Given the description of an element on the screen output the (x, y) to click on. 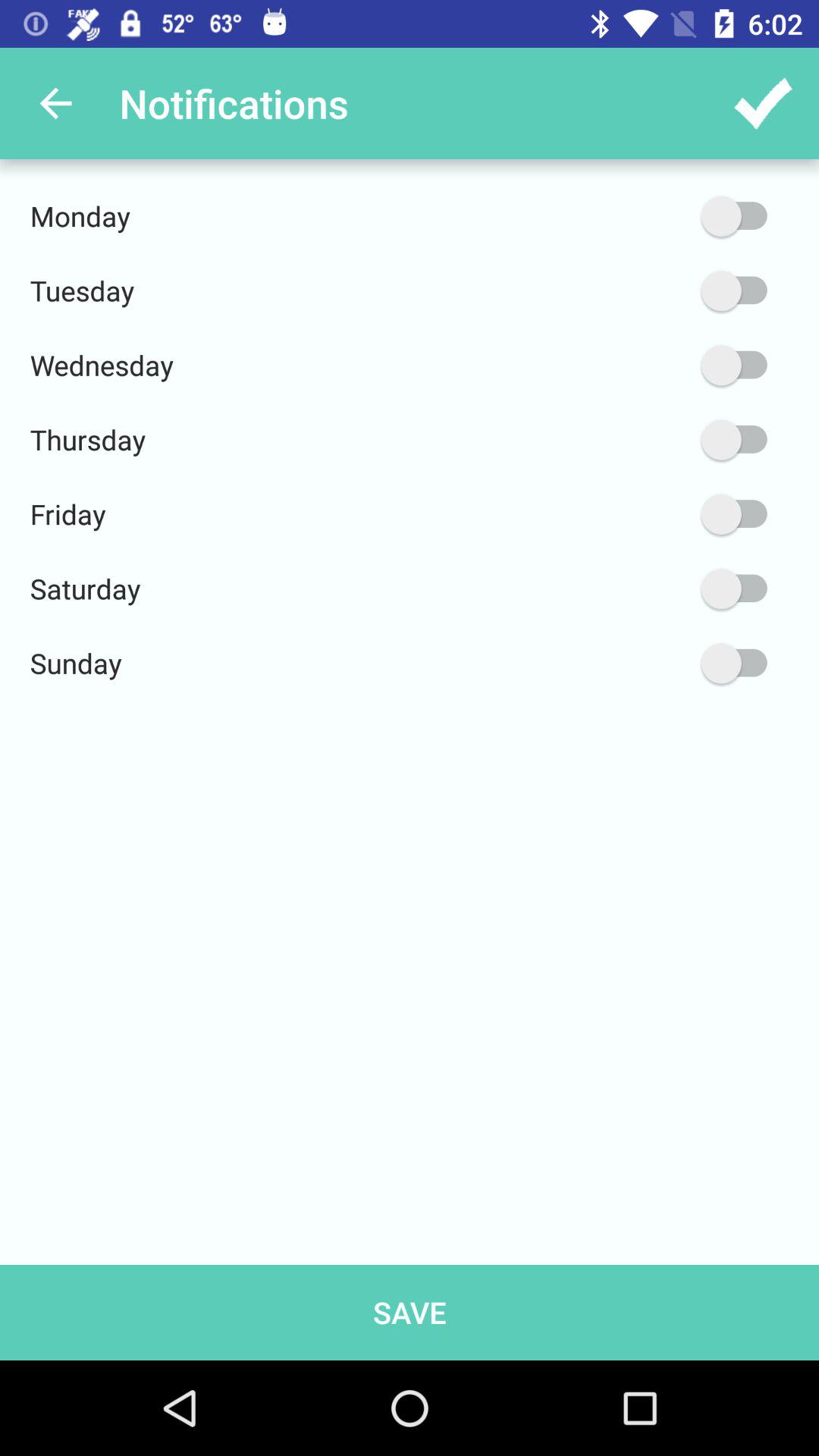
launch icon next to friday (661, 514)
